Given the description of an element on the screen output the (x, y) to click on. 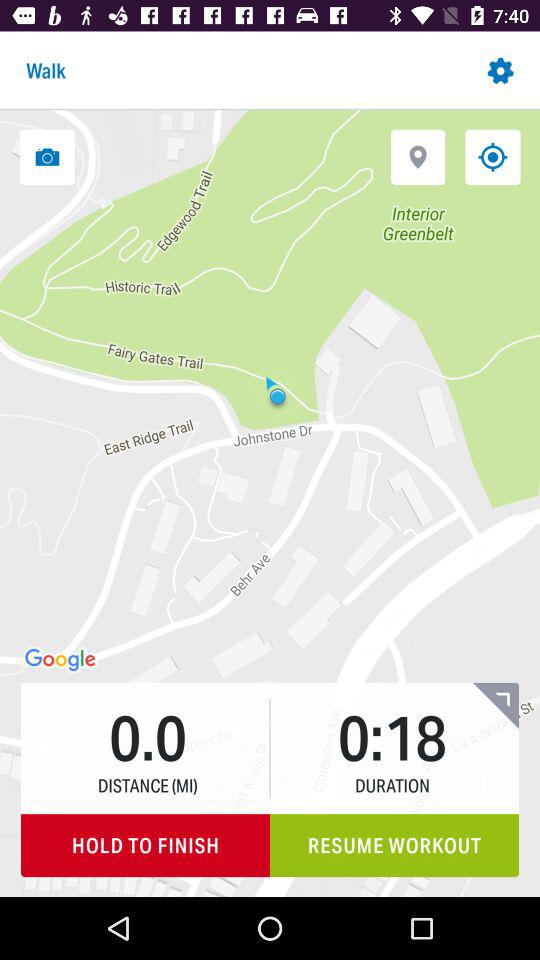
open the item above the 0:18 (418, 156)
